Given the description of an element on the screen output the (x, y) to click on. 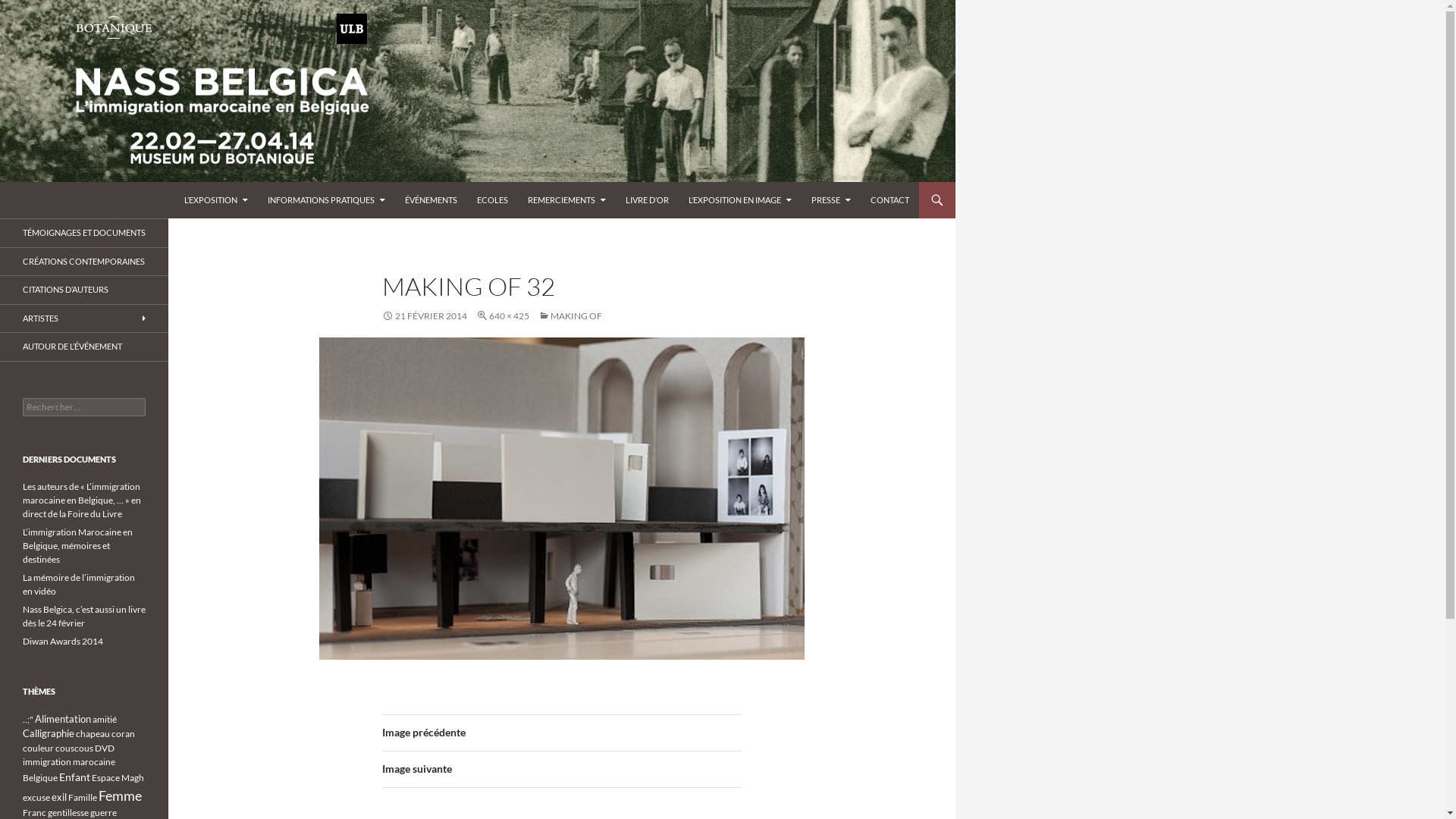
ECOLES Element type: text (492, 200)
Espace Magh Element type: text (117, 777)
Alimentation Element type: text (62, 718)
INFORMATIONS PRATIQUES Element type: text (326, 200)
Recherche Element type: text (3, 181)
gentillesse Element type: text (67, 812)
Femme Element type: text (119, 795)
couleur Element type: text (37, 747)
Image suivante Element type: text (561, 769)
ARTISTES Element type: text (84, 318)
exil Element type: text (58, 796)
Calligraphie Element type: text (48, 733)
CONTACT Element type: text (889, 200)
Rechercher Element type: text (41, 9)
DVD immigration marocaine Belgique Element type: text (68, 762)
chapeau Element type: text (92, 733)
coran Element type: text (122, 733)
guerre Element type: text (103, 812)
ALLER AU CONTENU Element type: text (183, 181)
PRESSE Element type: text (830, 200)
..;" Element type: text (27, 718)
MAKING OF Element type: text (570, 315)
REMERCIEMENTS Element type: text (566, 200)
excuse Element type: text (36, 797)
Famille Element type: text (82, 797)
couscous Element type: text (74, 747)
Nass Belgica Element type: text (60, 200)
Diwan Awards 2014 Element type: text (62, 640)
Enfant Element type: text (74, 776)
Franc Element type: text (34, 812)
